Given the description of an element on the screen output the (x, y) to click on. 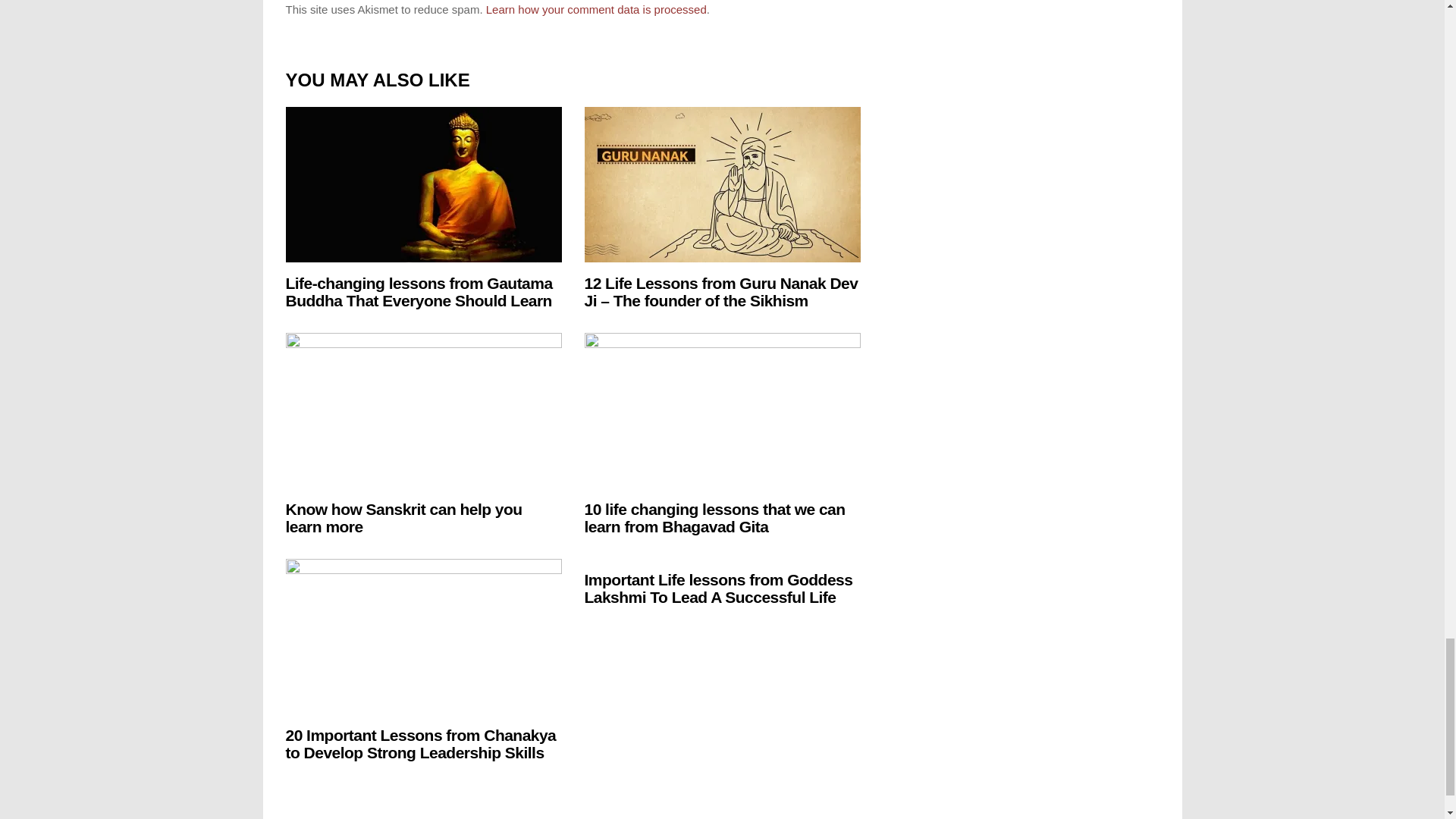
Learn how your comment data is processed (596, 9)
